Given the description of an element on the screen output the (x, y) to click on. 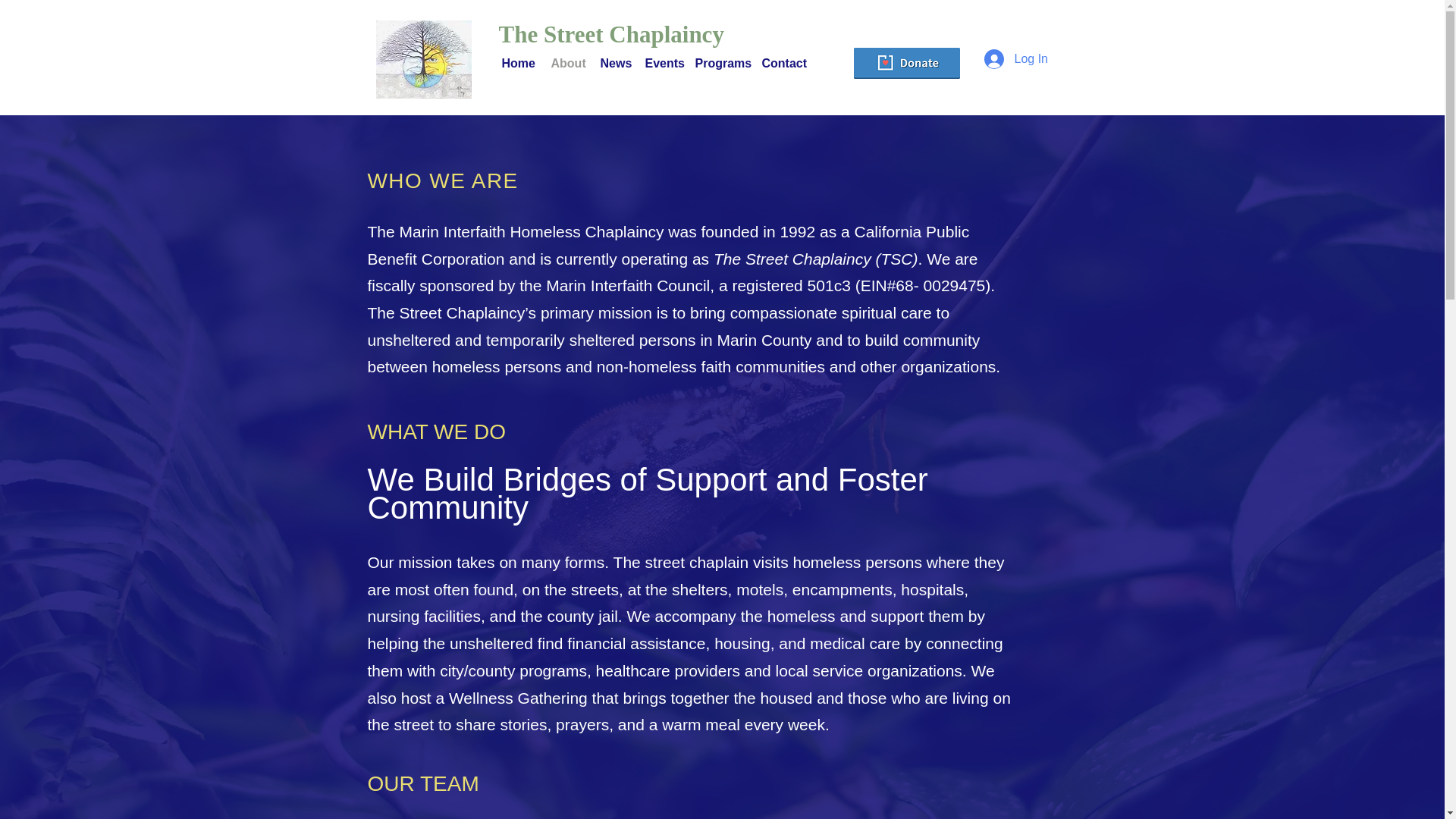
Events (662, 63)
Contact (782, 63)
Log In (1005, 59)
The Street Chaplaincy (722, 34)
Programs (720, 63)
News (614, 63)
About (567, 63)
Home (519, 63)
